Given the description of an element on the screen output the (x, y) to click on. 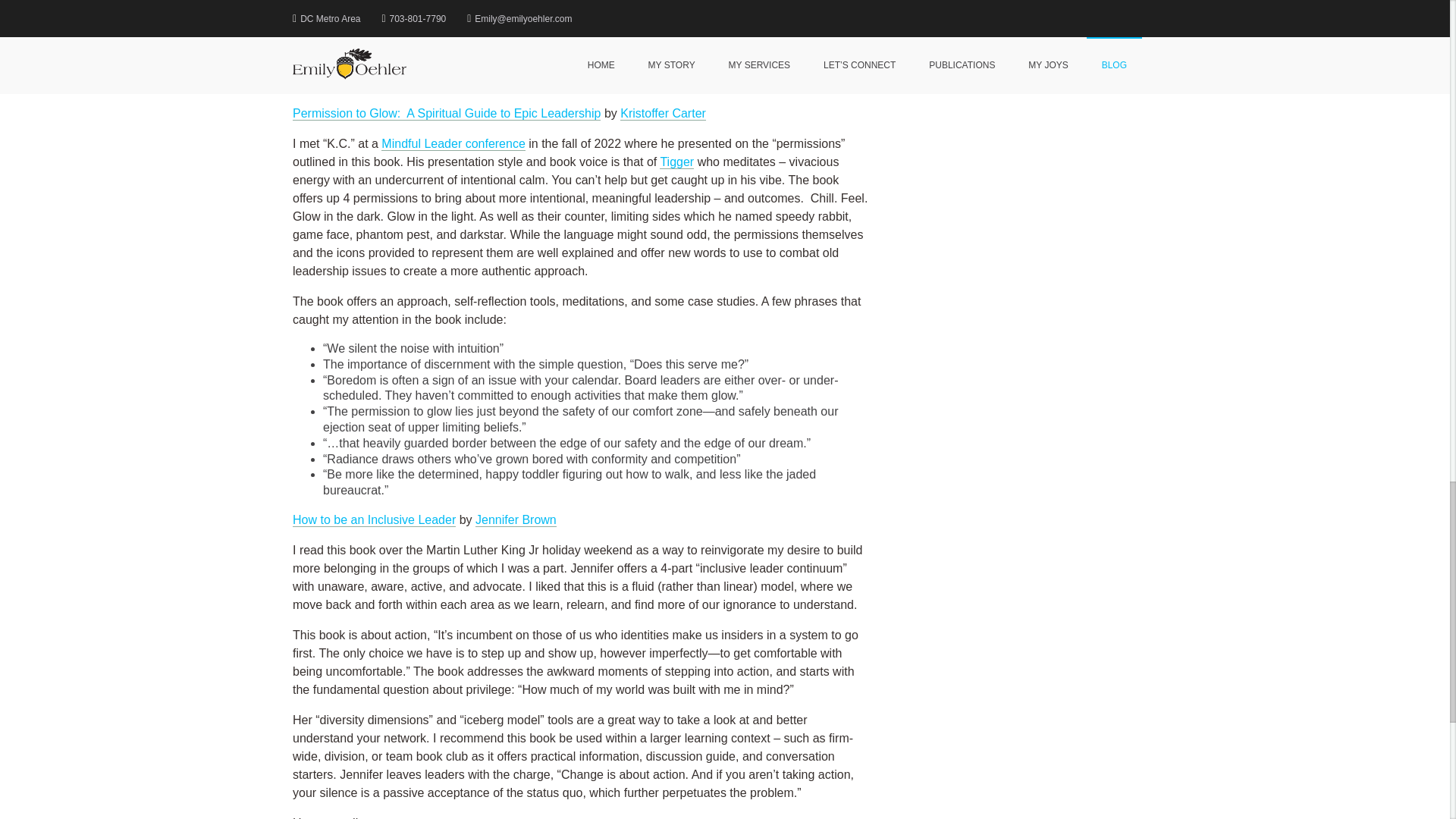
Kristoffer Carter (663, 113)
Permission to Glow:  A Spiritual Guide to Epic Leadership (445, 113)
Tigger (676, 161)
How to be an Inclusive Leader (373, 520)
Jennifer Brown (516, 520)
Mindful Leader conference (452, 143)
